Given the description of an element on the screen output the (x, y) to click on. 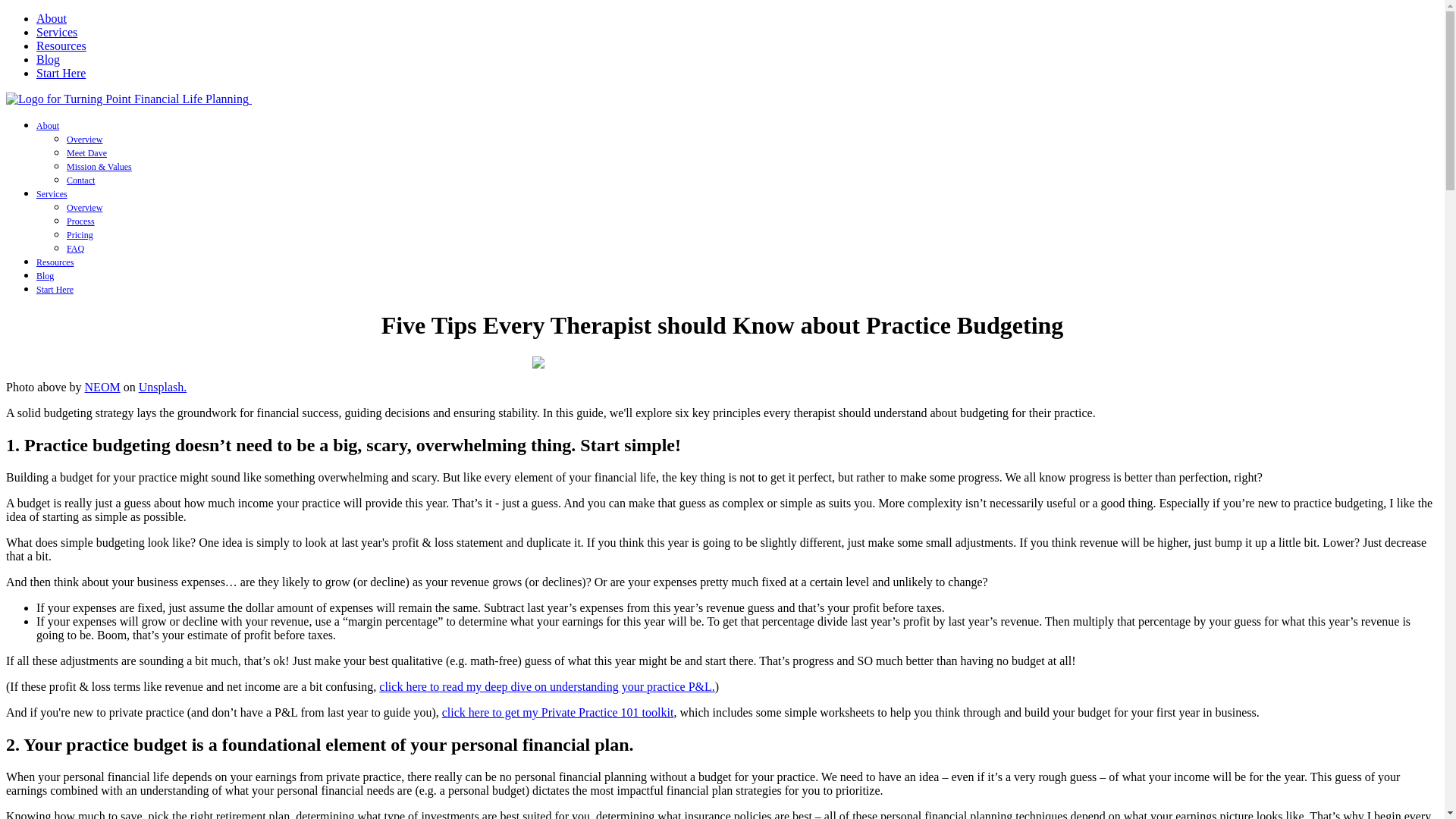
Overview (83, 139)
Meet Dave (86, 153)
About (47, 125)
Pricing (79, 235)
Unsplash. (162, 386)
Services (56, 31)
Blog (47, 59)
NEOM (102, 386)
About (51, 18)
FAQ (75, 248)
